Given the description of an element on the screen output the (x, y) to click on. 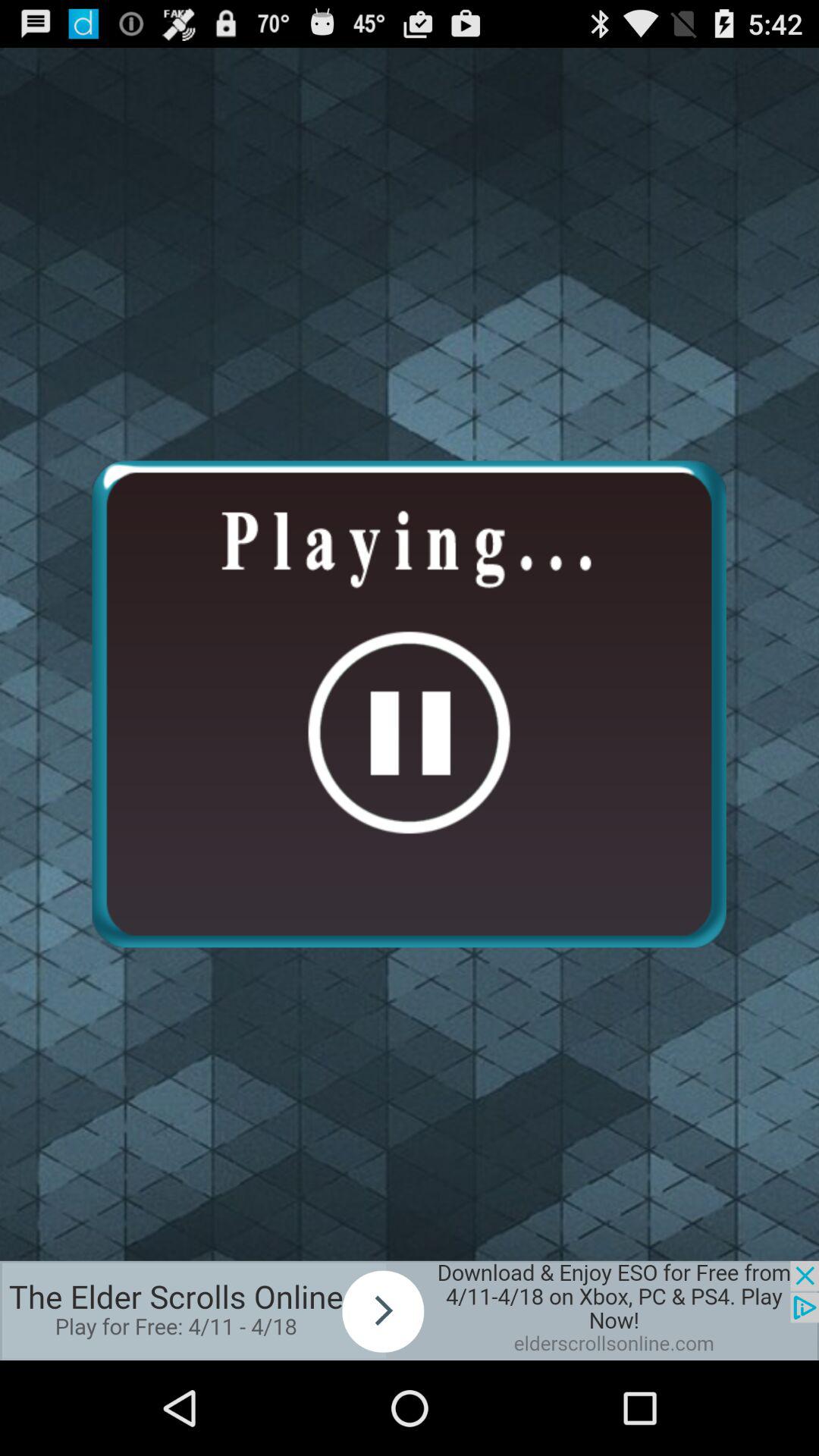
pause (409, 703)
